Given the description of an element on the screen output the (x, y) to click on. 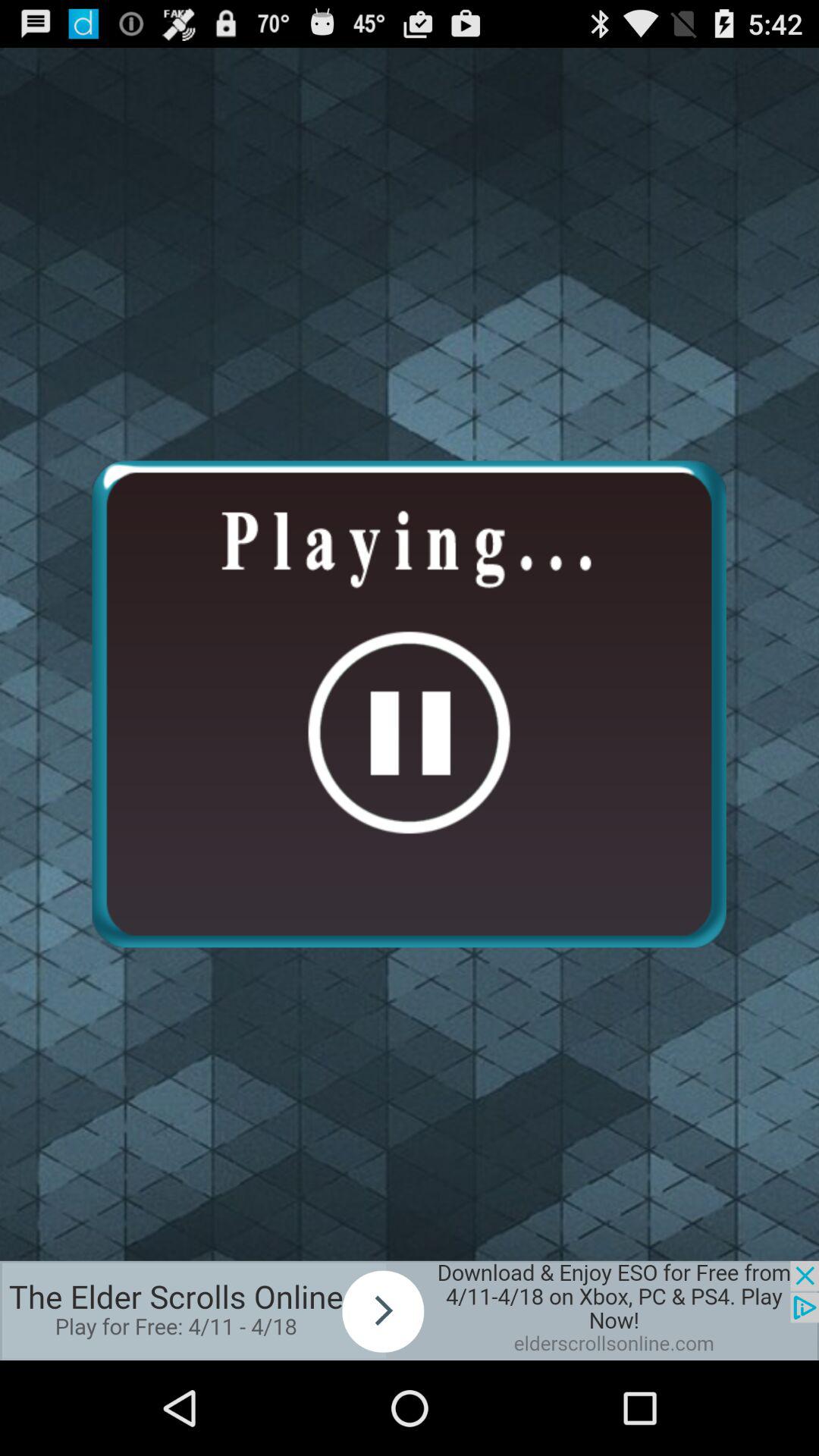
pause (409, 703)
